Given the description of an element on the screen output the (x, y) to click on. 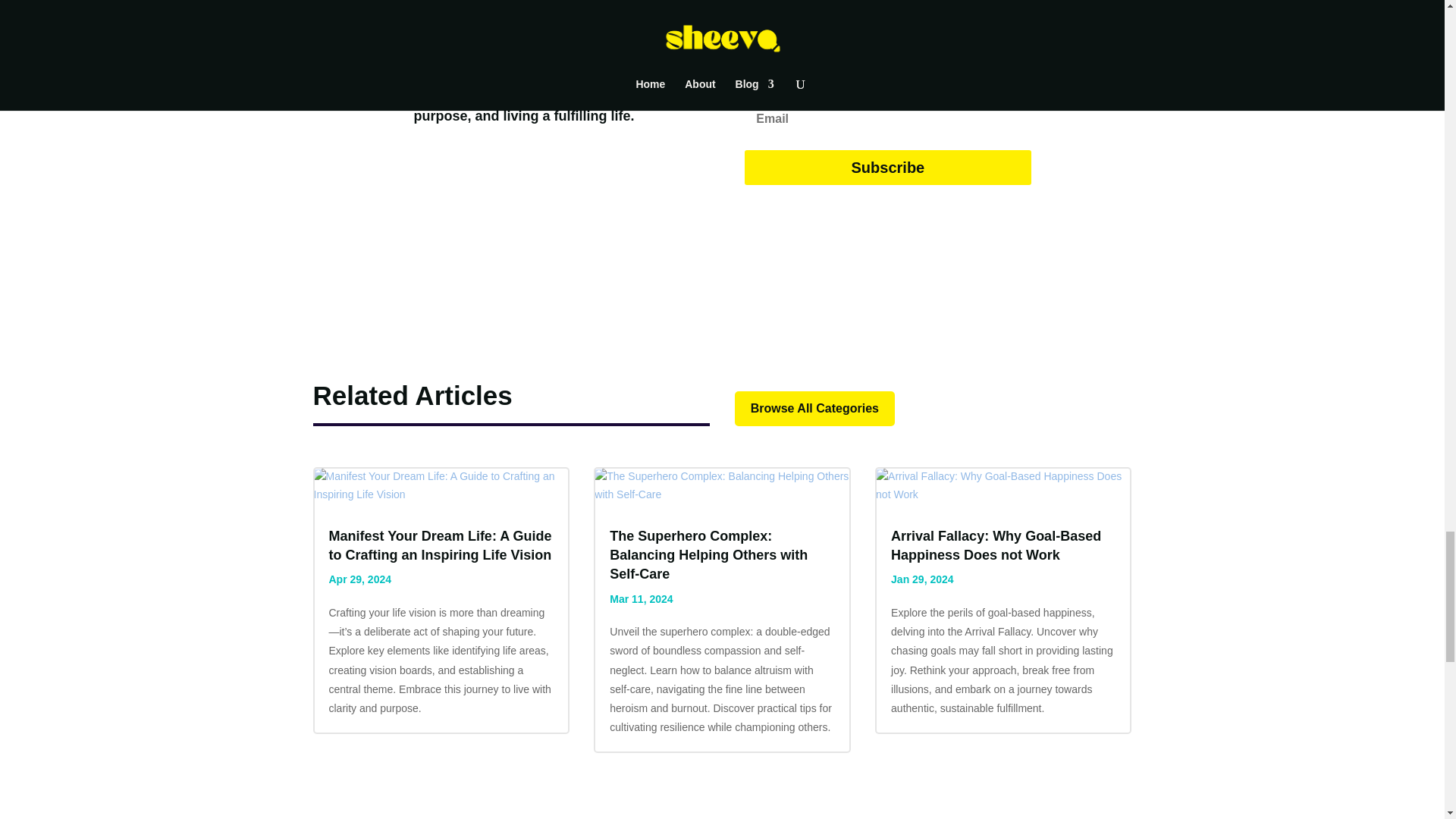
Subscribe (887, 167)
Arrival Fallacy: Why Goal-Based Happiness Does not Work (995, 545)
Browse All Categories (815, 408)
